Given the description of an element on the screen output the (x, y) to click on. 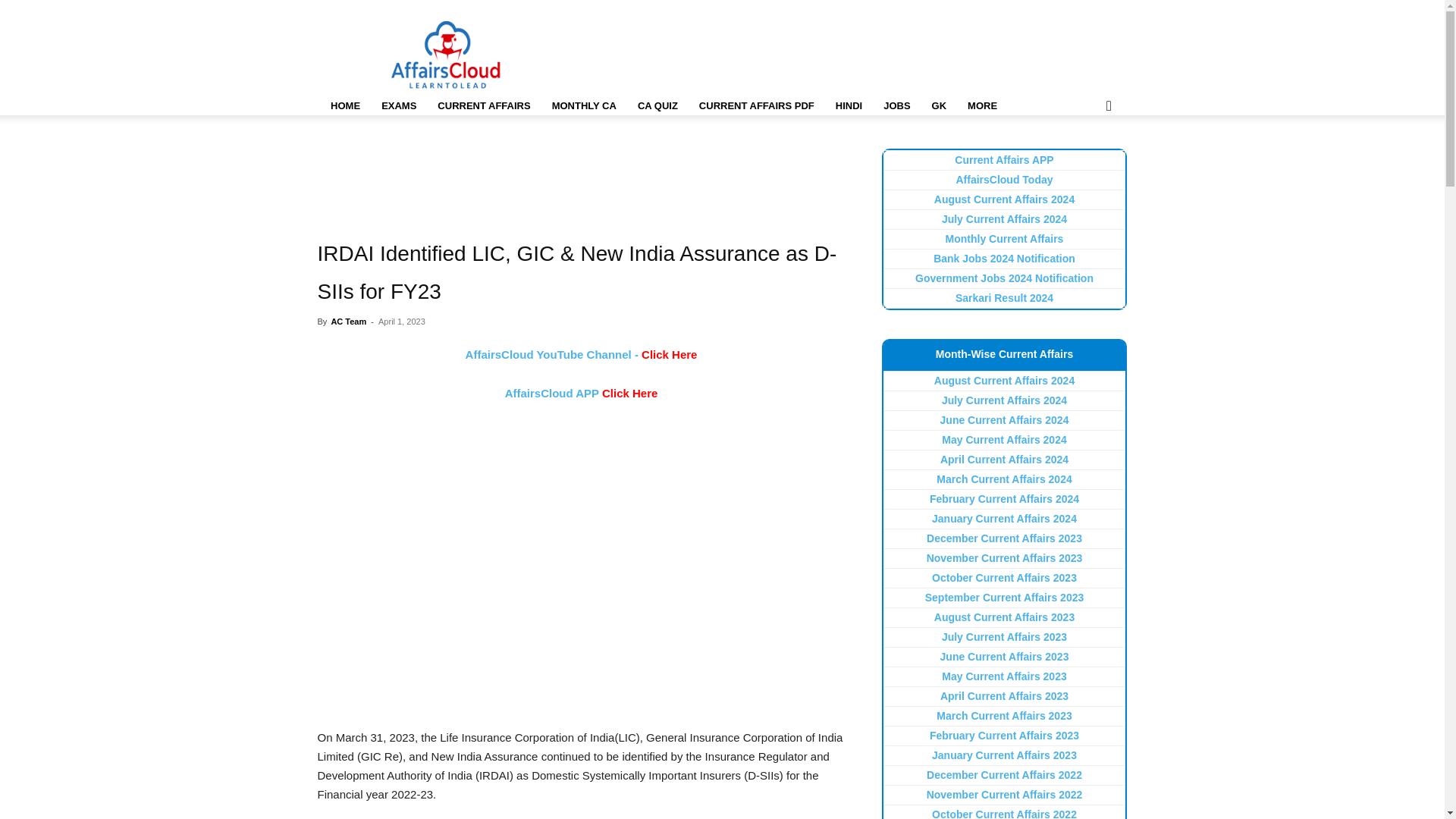
Current Affairs Quiz (657, 105)
Home (344, 105)
Current Affairs Hindi (848, 105)
Current Affairs (483, 105)
AffairsCloud (446, 55)
Current Affairs PDF (756, 105)
